Given the description of an element on the screen output the (x, y) to click on. 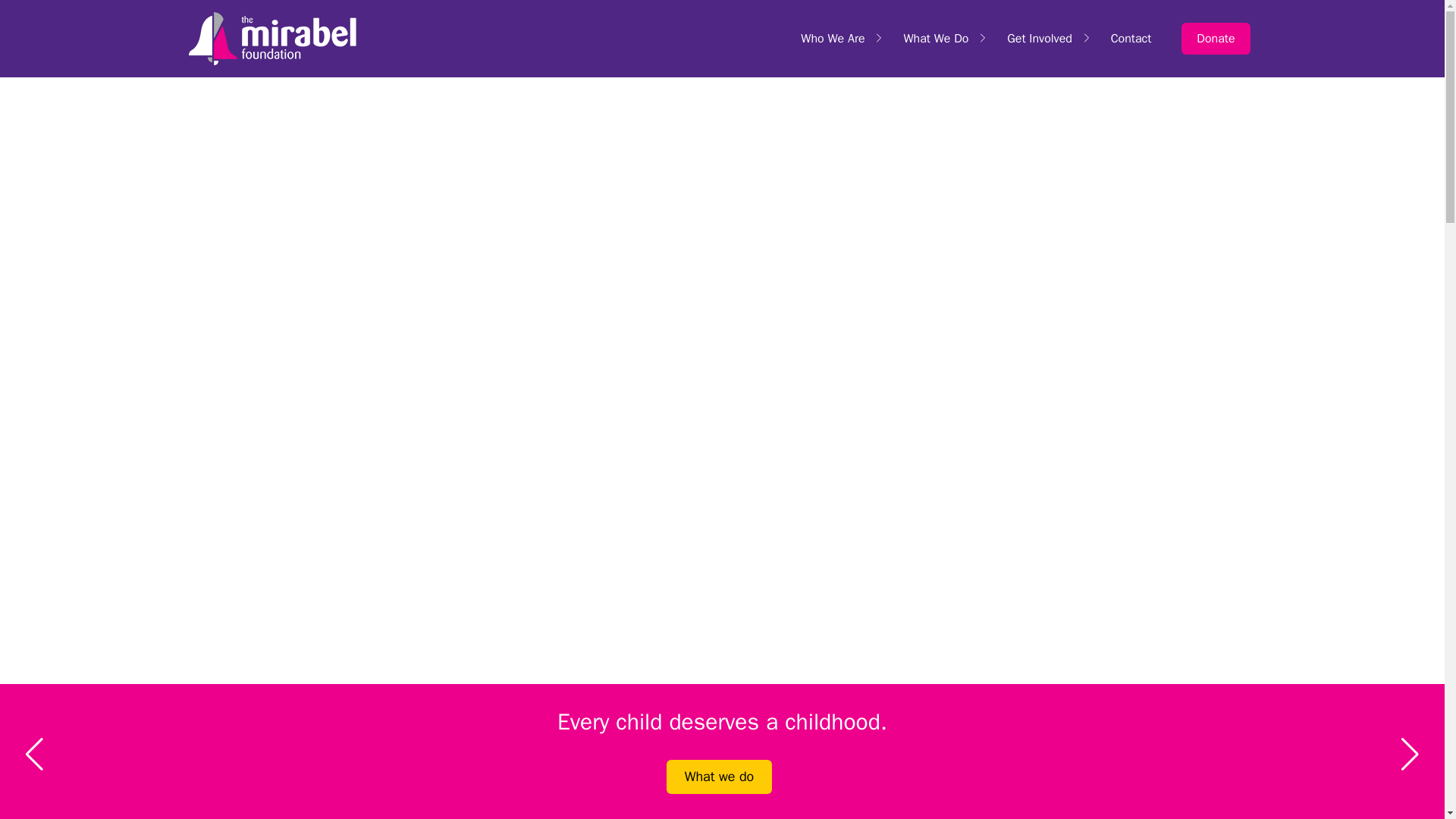
About us (1214, 38)
What We Do (935, 38)
Who We Are (832, 38)
Get Involved (1039, 38)
Donate (1214, 38)
Contact (1130, 38)
About us (719, 776)
